Given the description of an element on the screen output the (x, y) to click on. 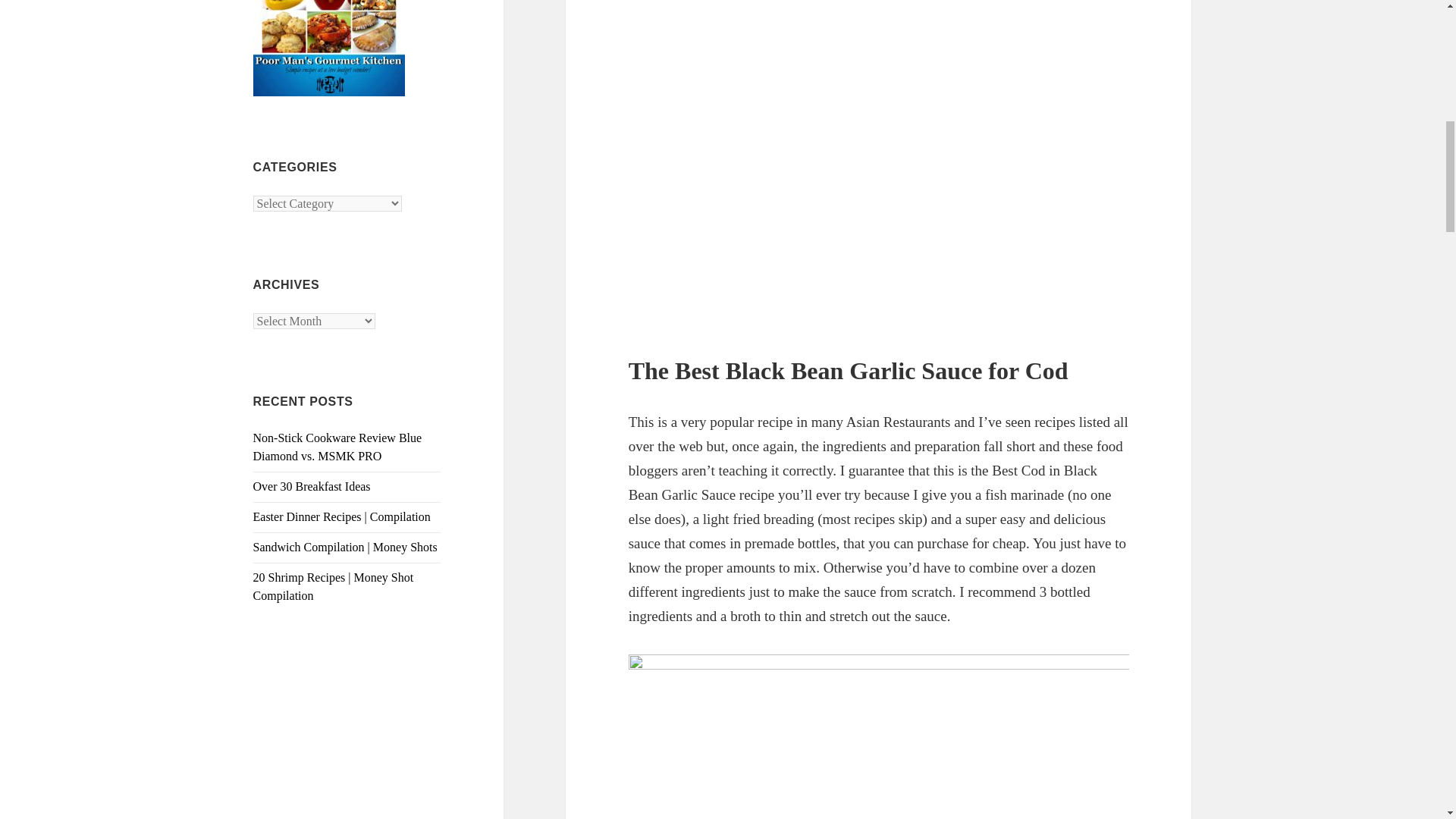
Over 30 Breakfast Ideas (312, 486)
Non-Stick Cookware Review Blue Diamond vs. MSMK PRO (337, 446)
